Given the description of an element on the screen output the (x, y) to click on. 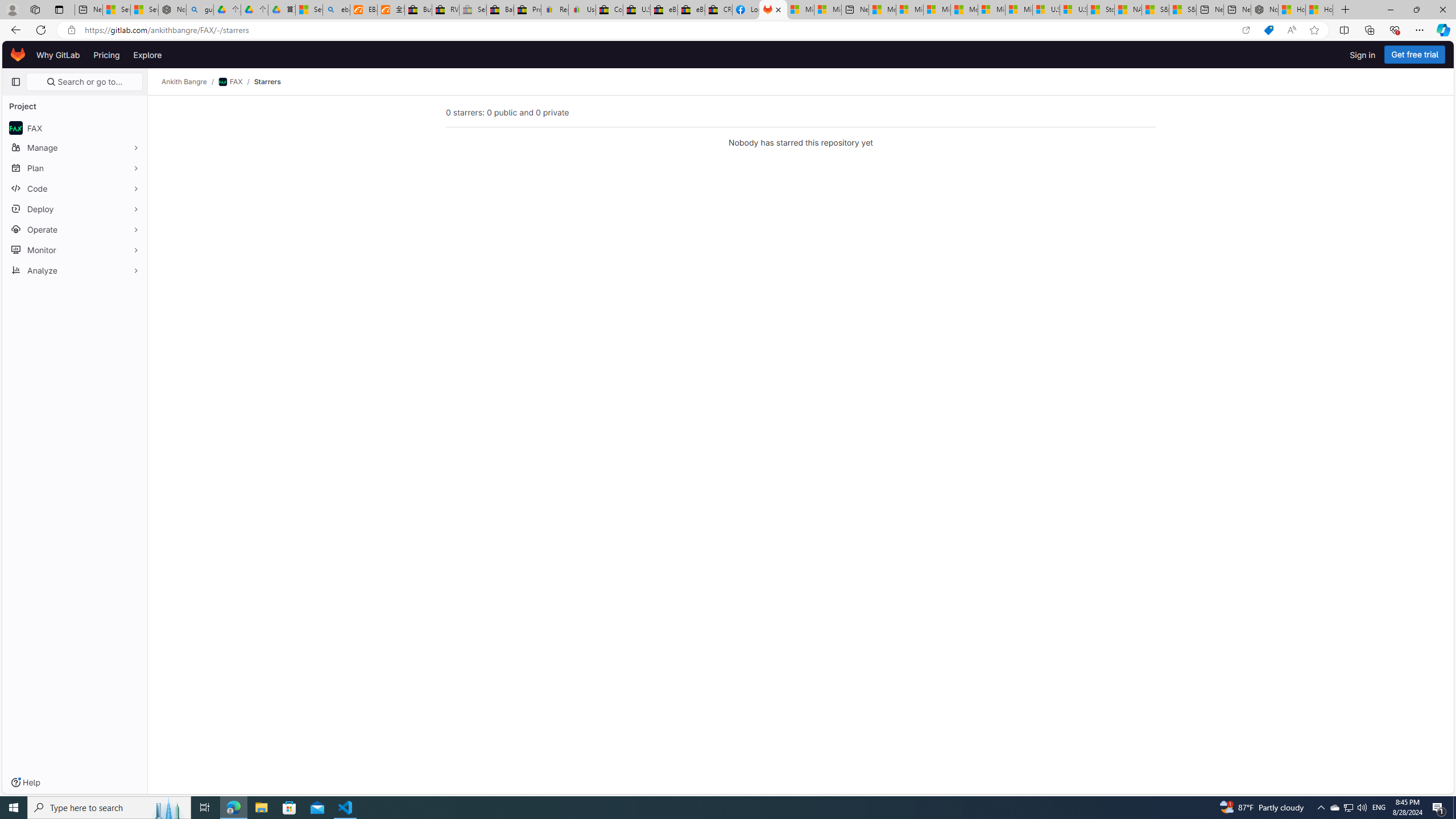
Minimize (1390, 9)
Explore (146, 54)
Get free trial (1414, 54)
Monitor (74, 249)
Analyze (74, 270)
New Tab (1346, 9)
Log into Facebook (746, 9)
App bar (728, 29)
Personal Profile (12, 9)
How to Use a Monitor With Your Closed Laptop (1319, 9)
Read aloud this page (Ctrl+Shift+U) (1291, 29)
Microsoft account | Privacy (909, 9)
